Given the description of an element on the screen output the (x, y) to click on. 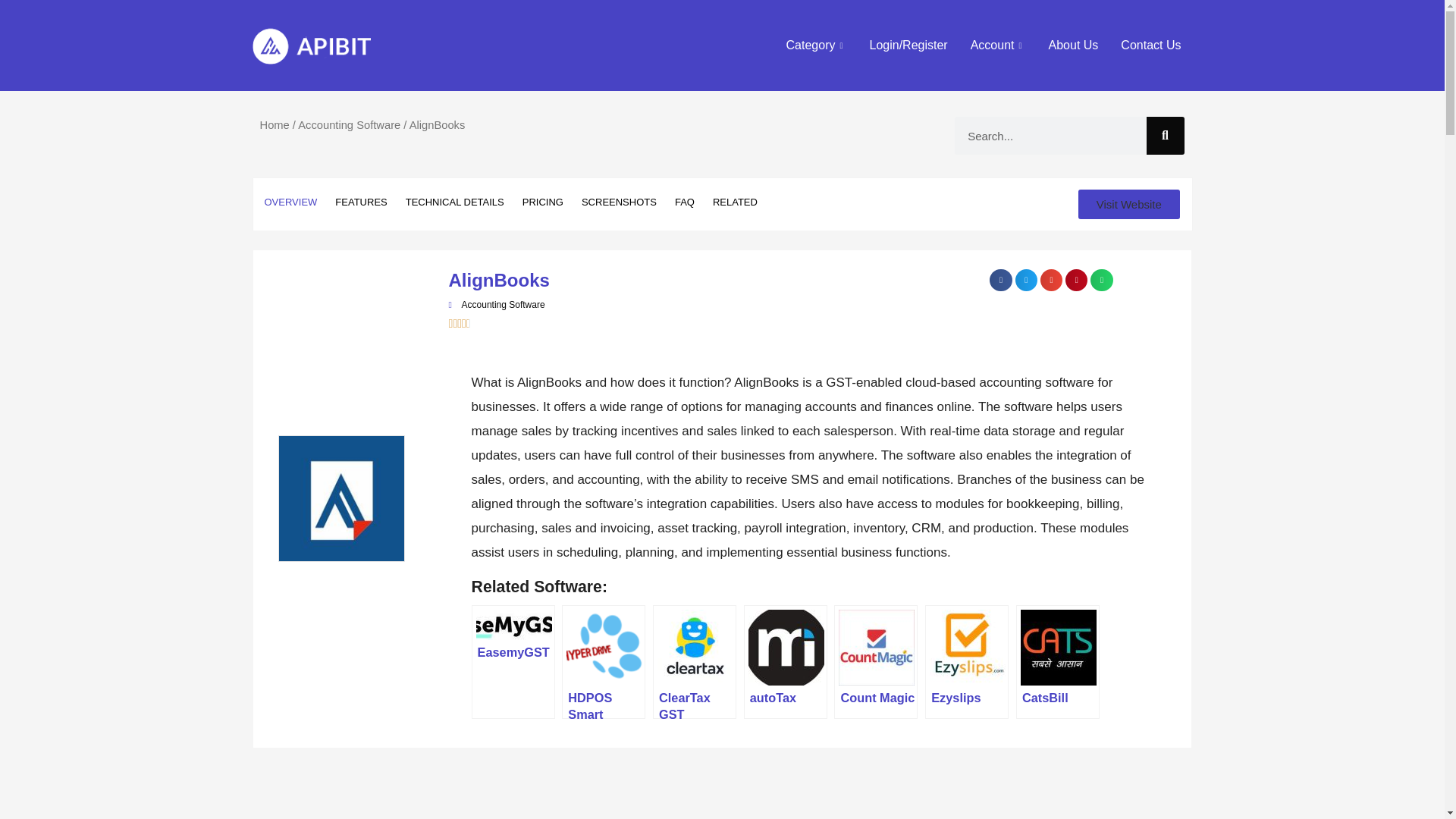
ClearTax GST Software 10 (695, 647)
autoTax 11 (786, 647)
Ezyslips 13 (968, 647)
Count Magic 12 (876, 647)
CatsBill 14 (1058, 647)
EasemyGST 8 (513, 624)
Category (816, 45)
Account (997, 45)
Advertisement (706, 787)
HDPOS Smart 9 (604, 647)
